Given the description of an element on the screen output the (x, y) to click on. 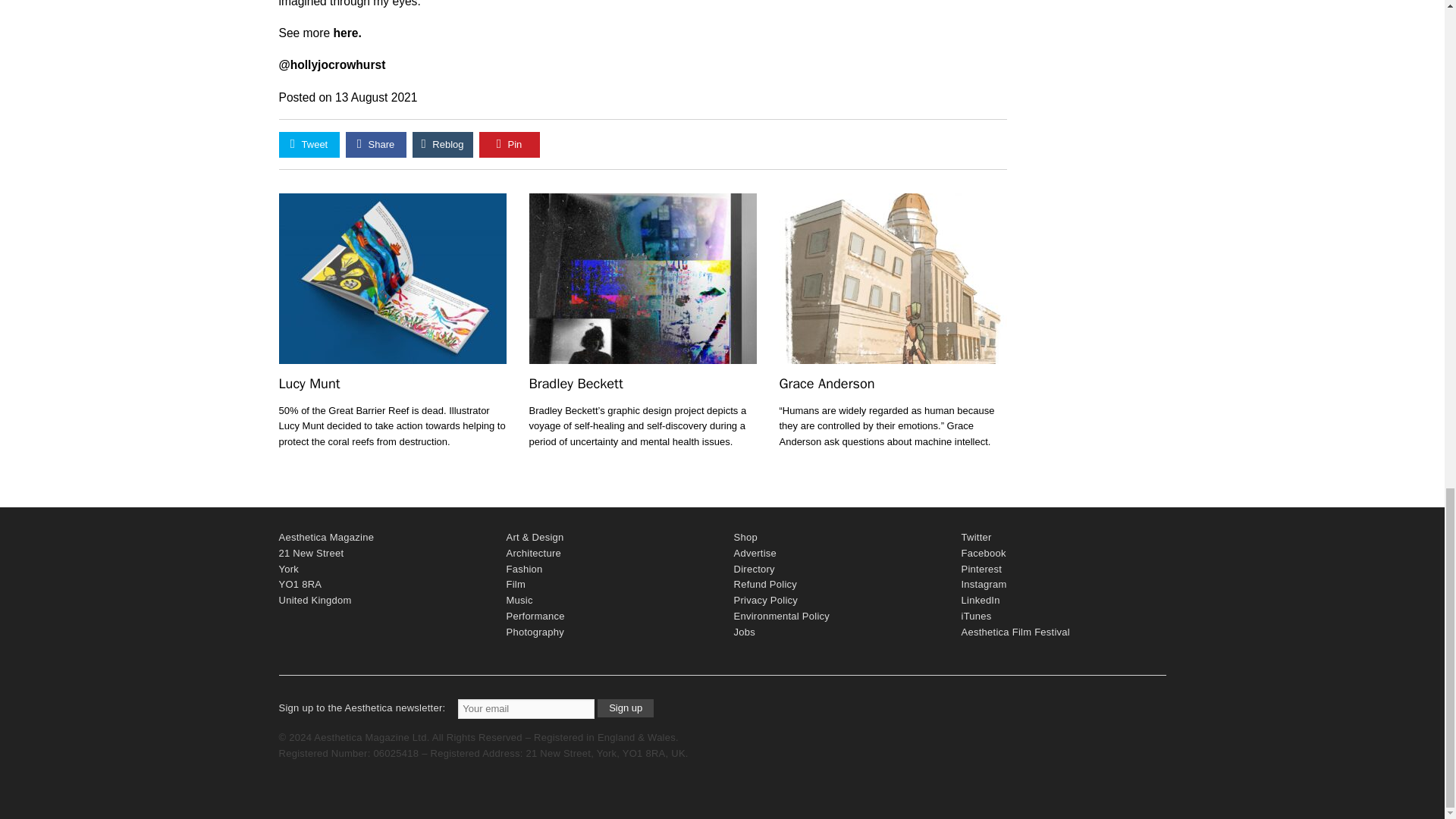
Share (376, 144)
Tweet (309, 144)
here. (347, 32)
Reblog (442, 144)
Pin (509, 144)
